Given the description of an element on the screen output the (x, y) to click on. 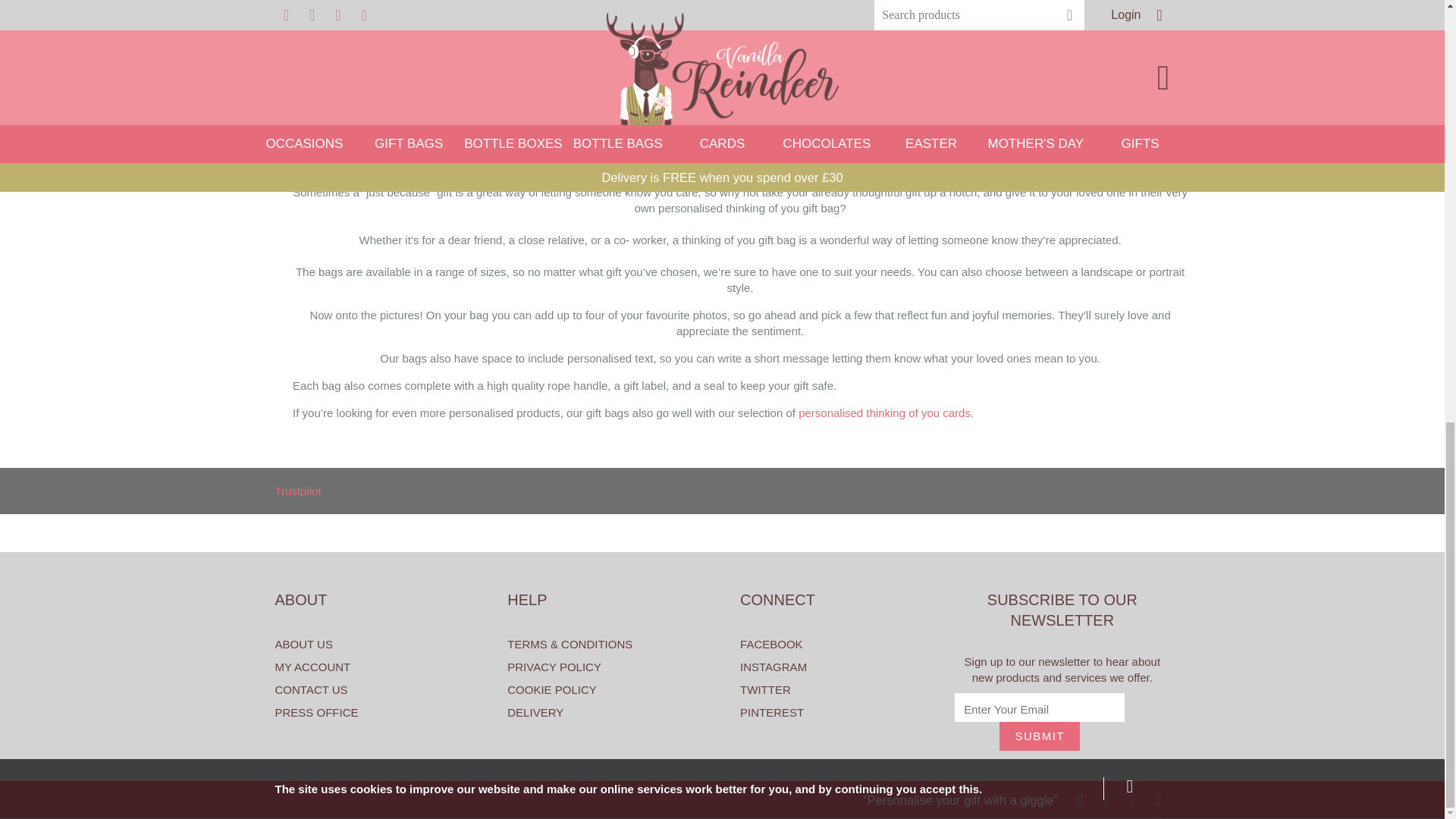
Show products in category Gift Bag Medium Landscape (739, 46)
Show products in category Gift Bag Medium Portrait (435, 46)
Submit (1039, 736)
Show products in category Gift Bag Medium Portrait (435, 113)
Show products in category Gift Bag Medium Landscape (739, 113)
